Given the description of an element on the screen output the (x, y) to click on. 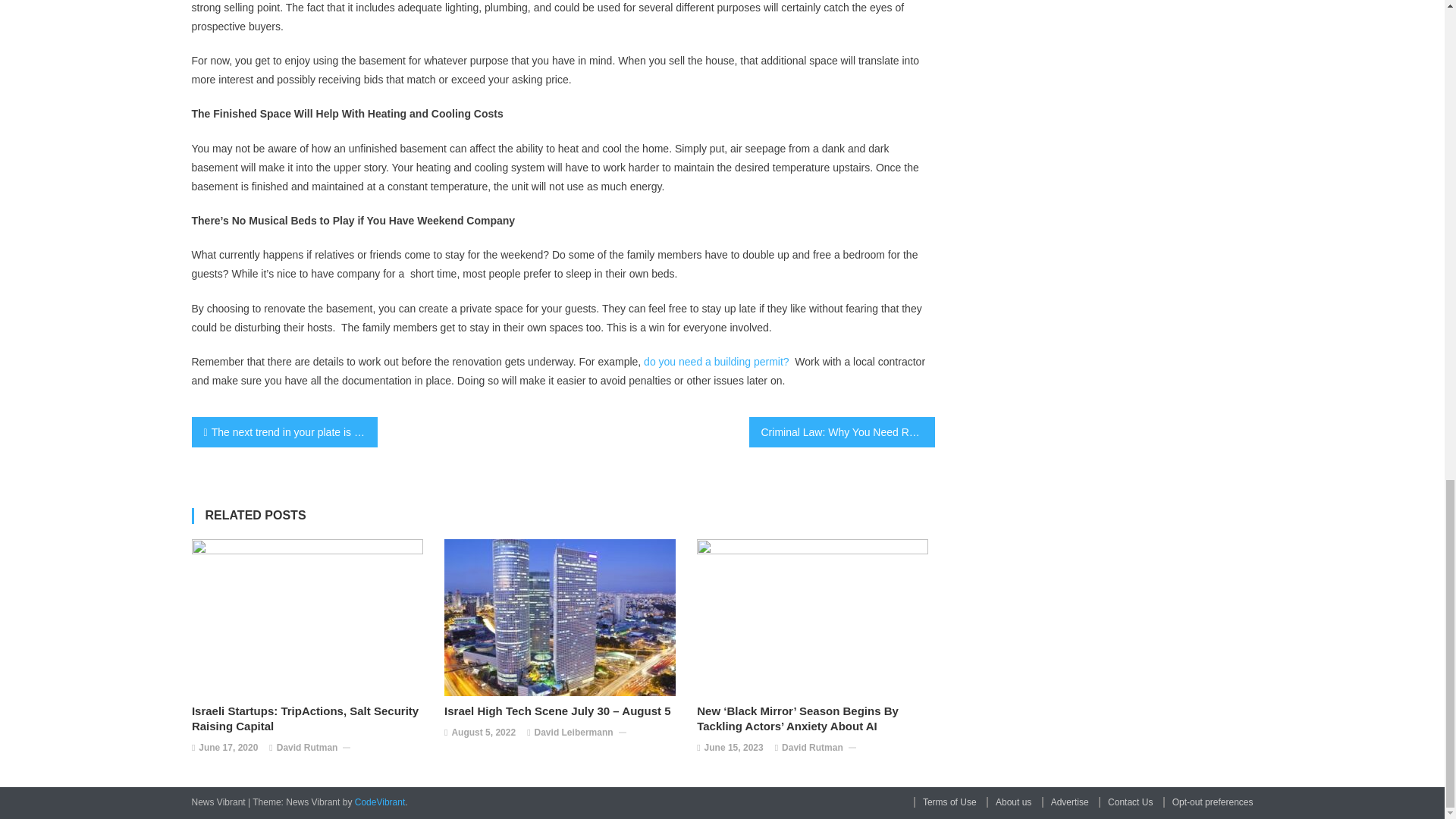
David Rutman (306, 748)
Israeli Startups: TripActions, Salt Security Raising Capital (310, 718)
June 17, 2020 (227, 748)
Criminal Law: Why You Need Representation (841, 431)
August 5, 2022 (483, 733)
David Leibermann (573, 733)
The next trend in your plate is blue food (283, 431)
do you need a building permit? (716, 361)
June 15, 2023 (733, 748)
